Given the description of an element on the screen output the (x, y) to click on. 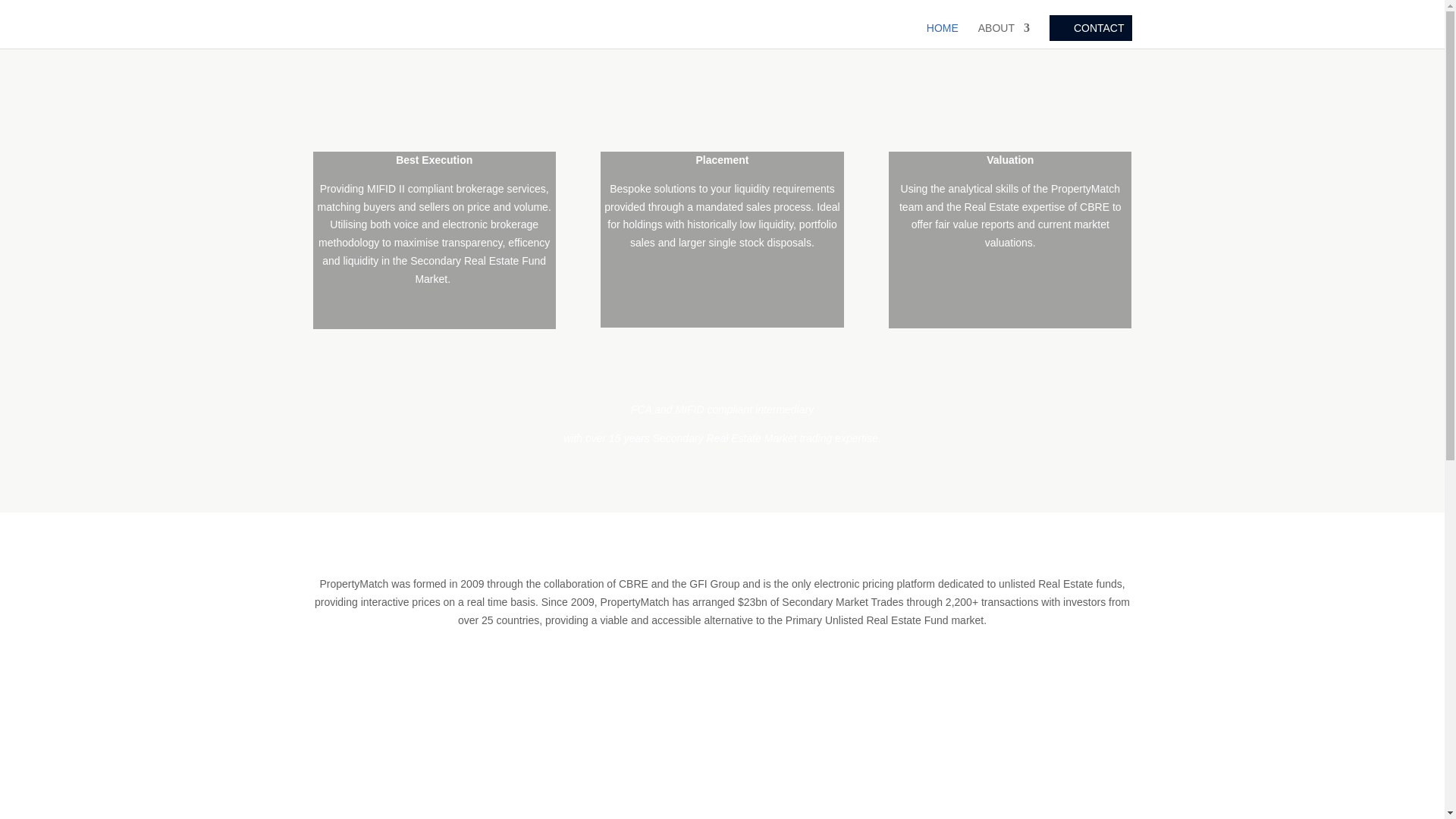
CONTACT (1090, 27)
HOME (942, 35)
ABOUT (1003, 35)
